Given the description of an element on the screen output the (x, y) to click on. 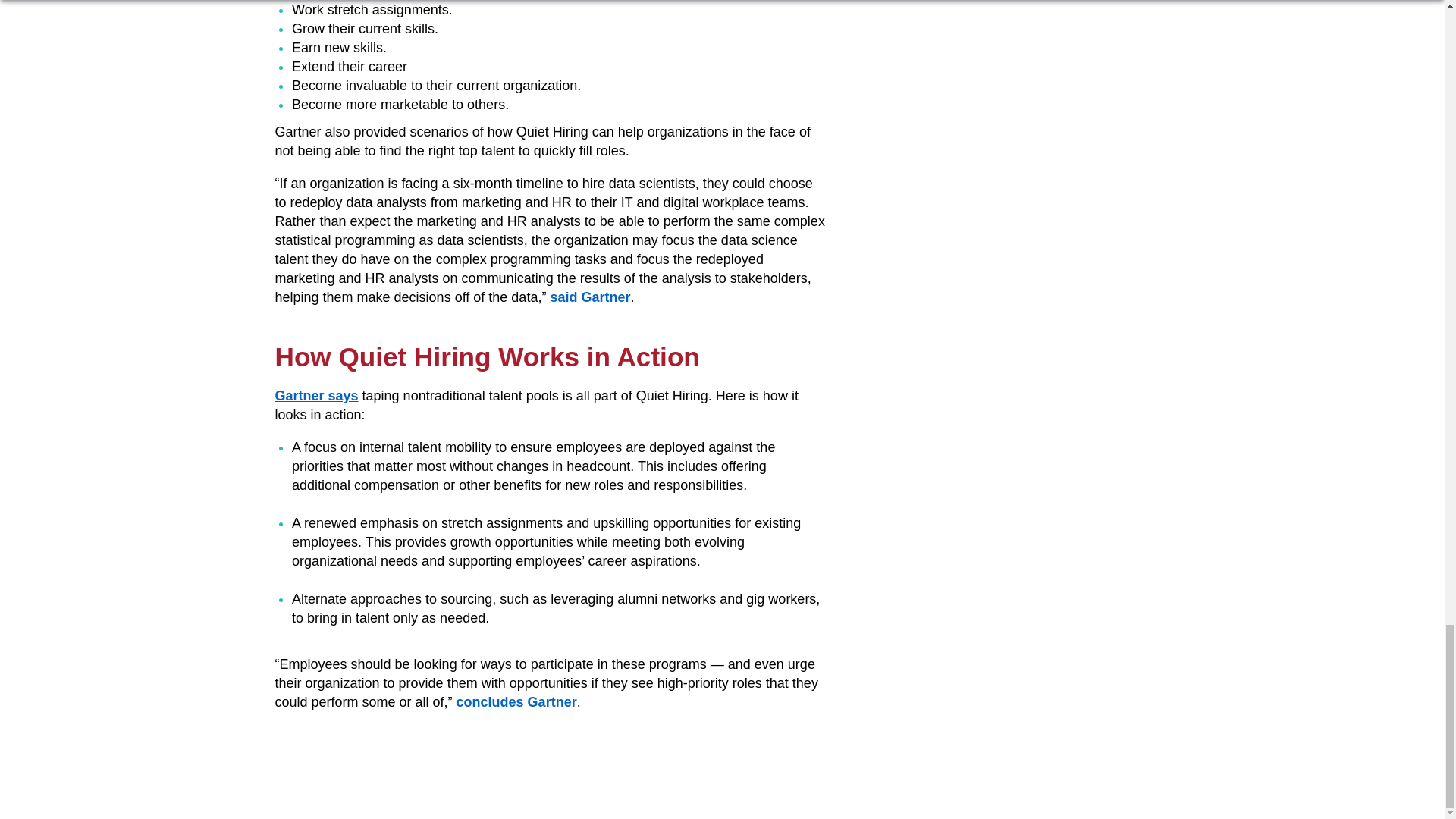
said Gartner (590, 296)
Gartner says (316, 395)
